Given the description of an element on the screen output the (x, y) to click on. 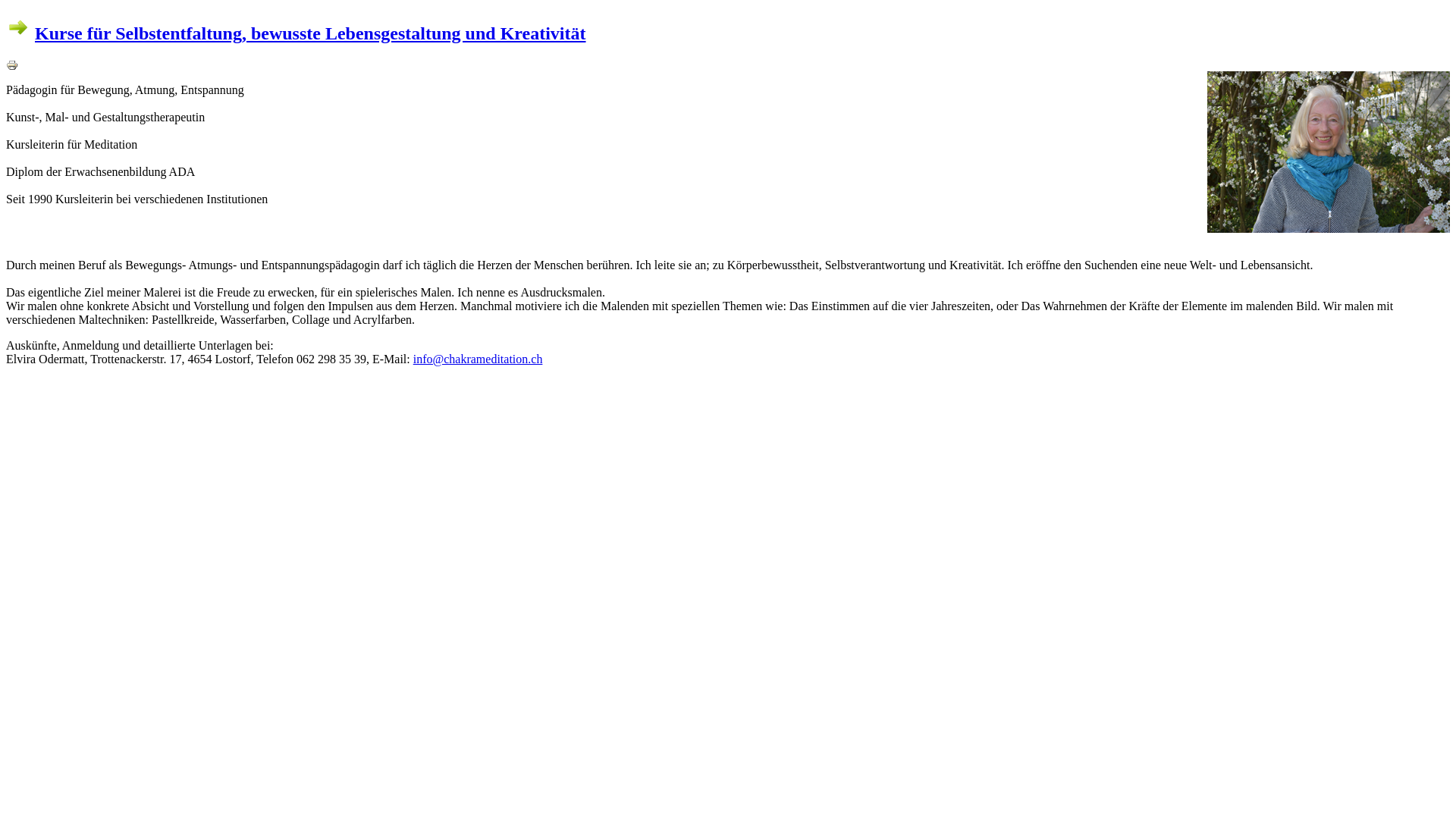
info@chakrameditation.ch Element type: text (477, 358)
Elvira Odermatt Element type: hover (1328, 228)
